Given the description of an element on the screen output the (x, y) to click on. 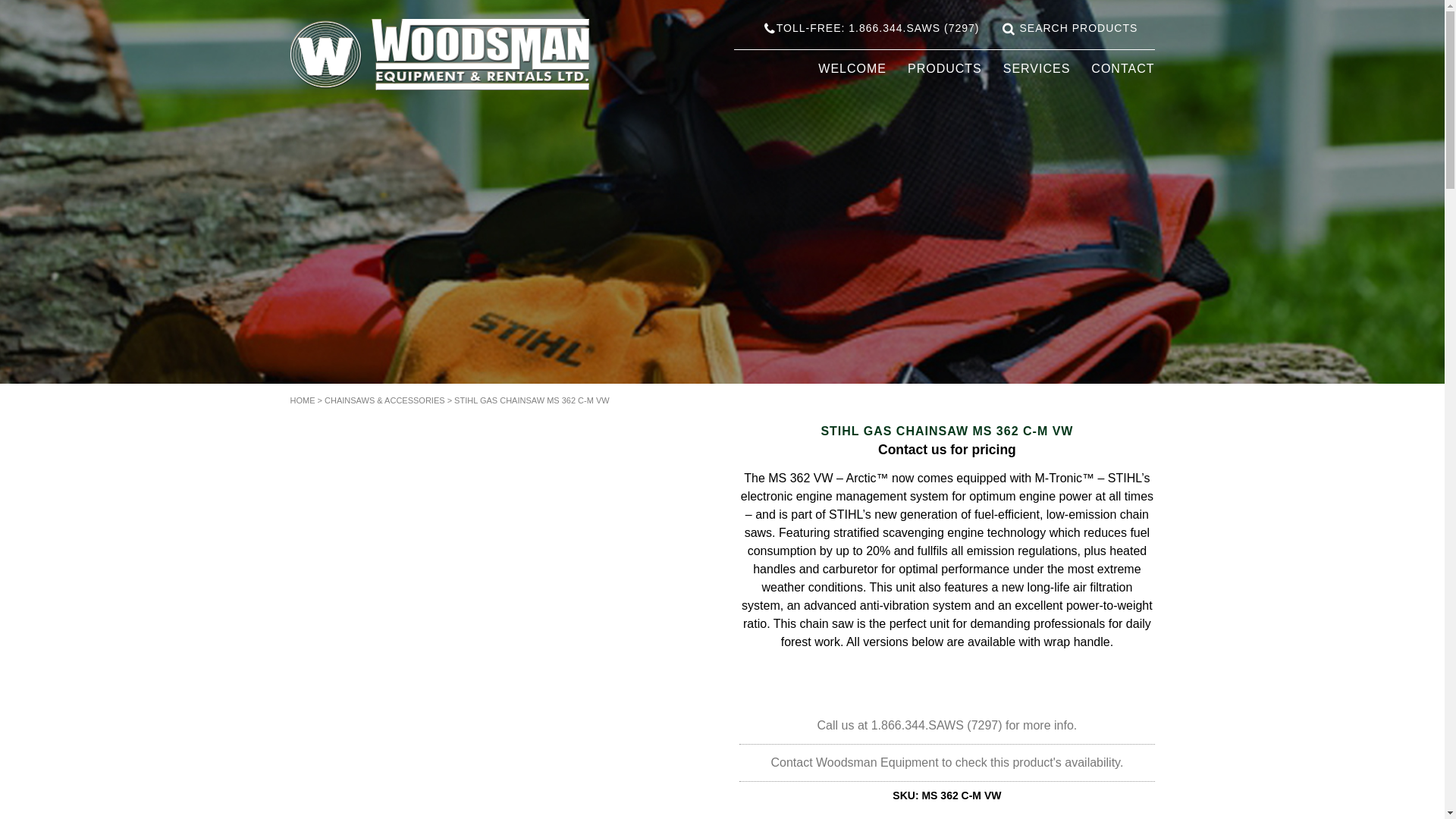
HOME (301, 399)
CONTACT (1122, 68)
PRODUCTS (944, 68)
Search  (1008, 29)
Search  (1008, 29)
Contact us for pricing (946, 449)
Search  (1008, 29)
WELCOME (852, 68)
SERVICES (1036, 68)
